Given the description of an element on the screen output the (x, y) to click on. 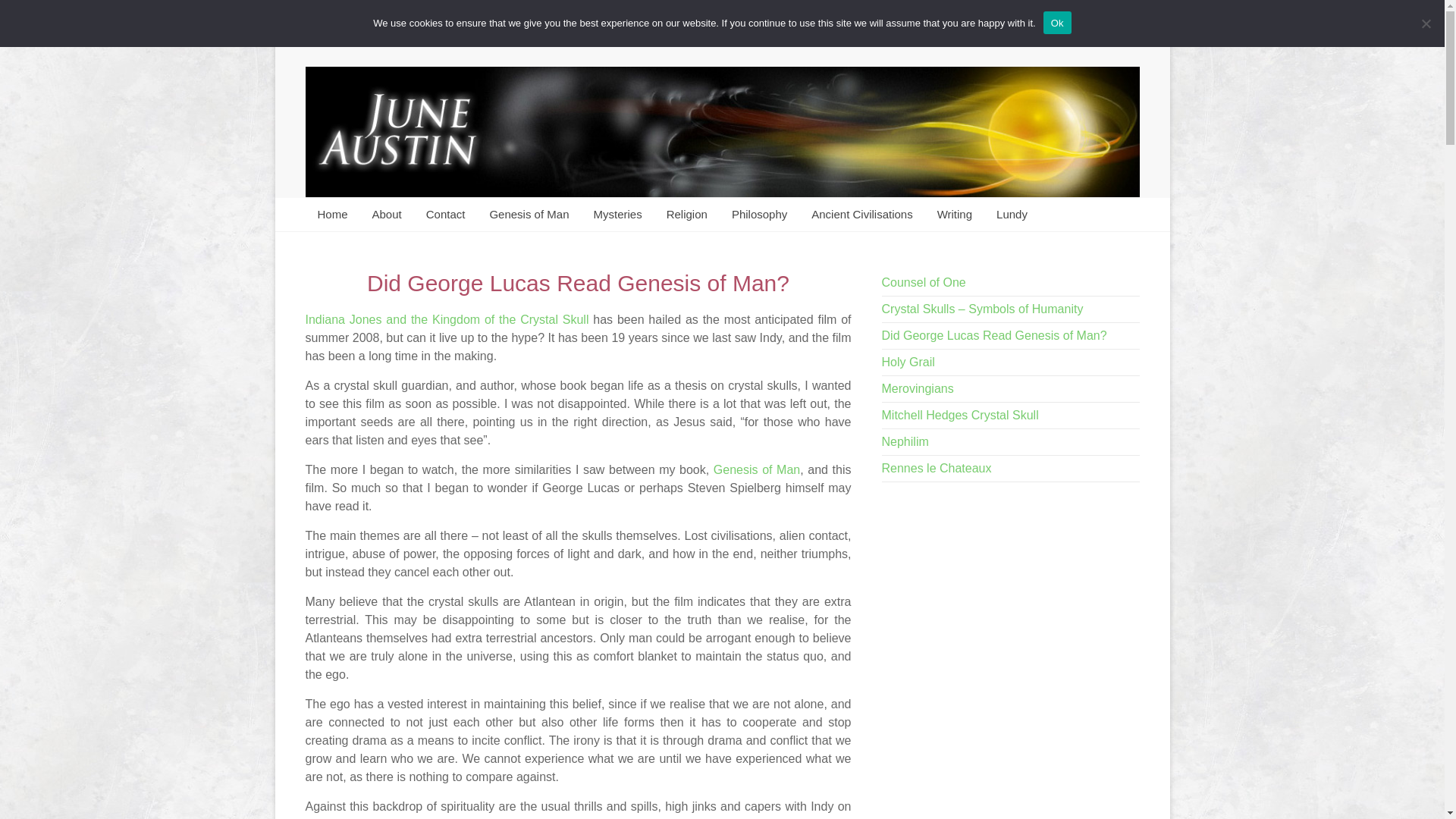
Contact (445, 214)
Philosophy (759, 214)
Ancient Civilisations (861, 214)
Mysteries (616, 214)
Religion (686, 214)
Rennes le Chateaux (936, 468)
Ok (1057, 22)
Amazon: Indiana Jones and the Kingdom of the Crystal Skull (448, 318)
Home (331, 214)
About (386, 214)
Mitchell Hedges Crystal Skull (960, 414)
Merovingians (917, 388)
June Austin (342, 70)
Did George Lucas Read Genesis of Man? (994, 335)
